Given the description of an element on the screen output the (x, y) to click on. 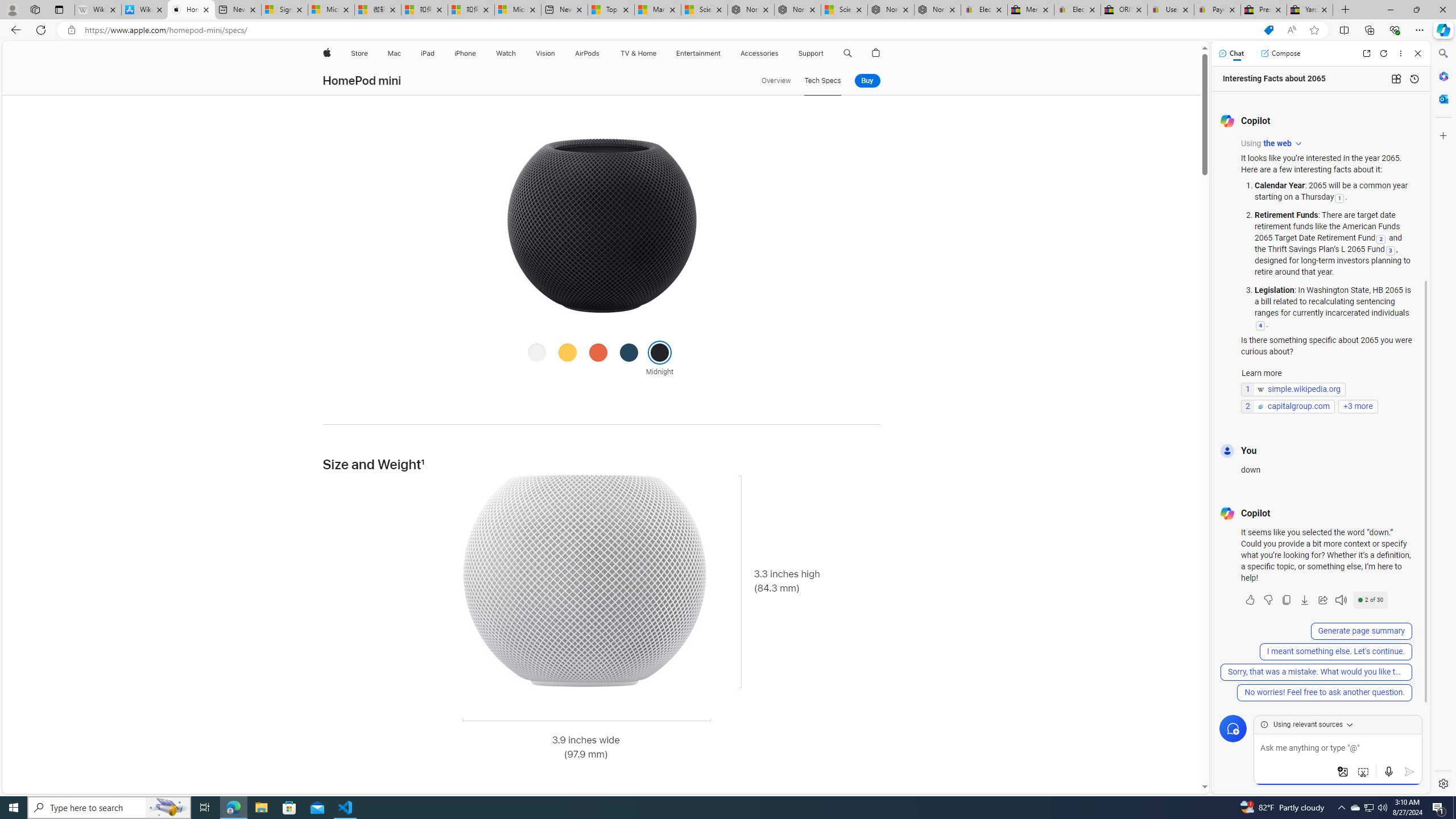
Midnight HomePod mini (600, 225)
TV & Home (637, 53)
iPhone (464, 53)
iPhone menu (477, 53)
iPad (427, 53)
Accessories (759, 53)
Store (359, 53)
Store (359, 53)
